Given the description of an element on the screen output the (x, y) to click on. 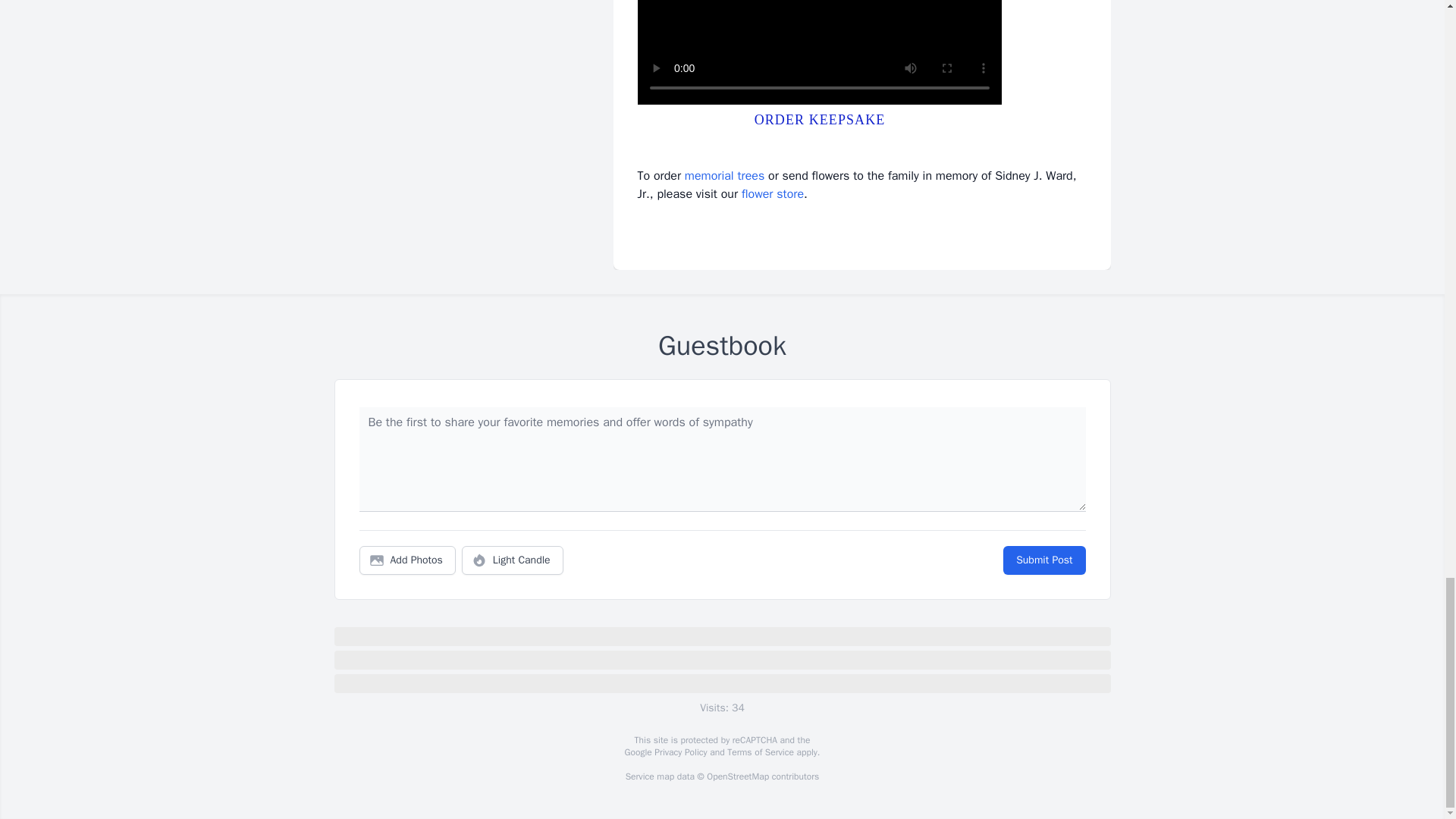
Terms of Service (759, 752)
Add Photos (407, 560)
Submit Post (1043, 560)
memorial trees (724, 175)
flower store (772, 193)
Light Candle (512, 560)
Privacy Policy (679, 752)
OpenStreetMap (737, 776)
